Given the description of an element on the screen output the (x, y) to click on. 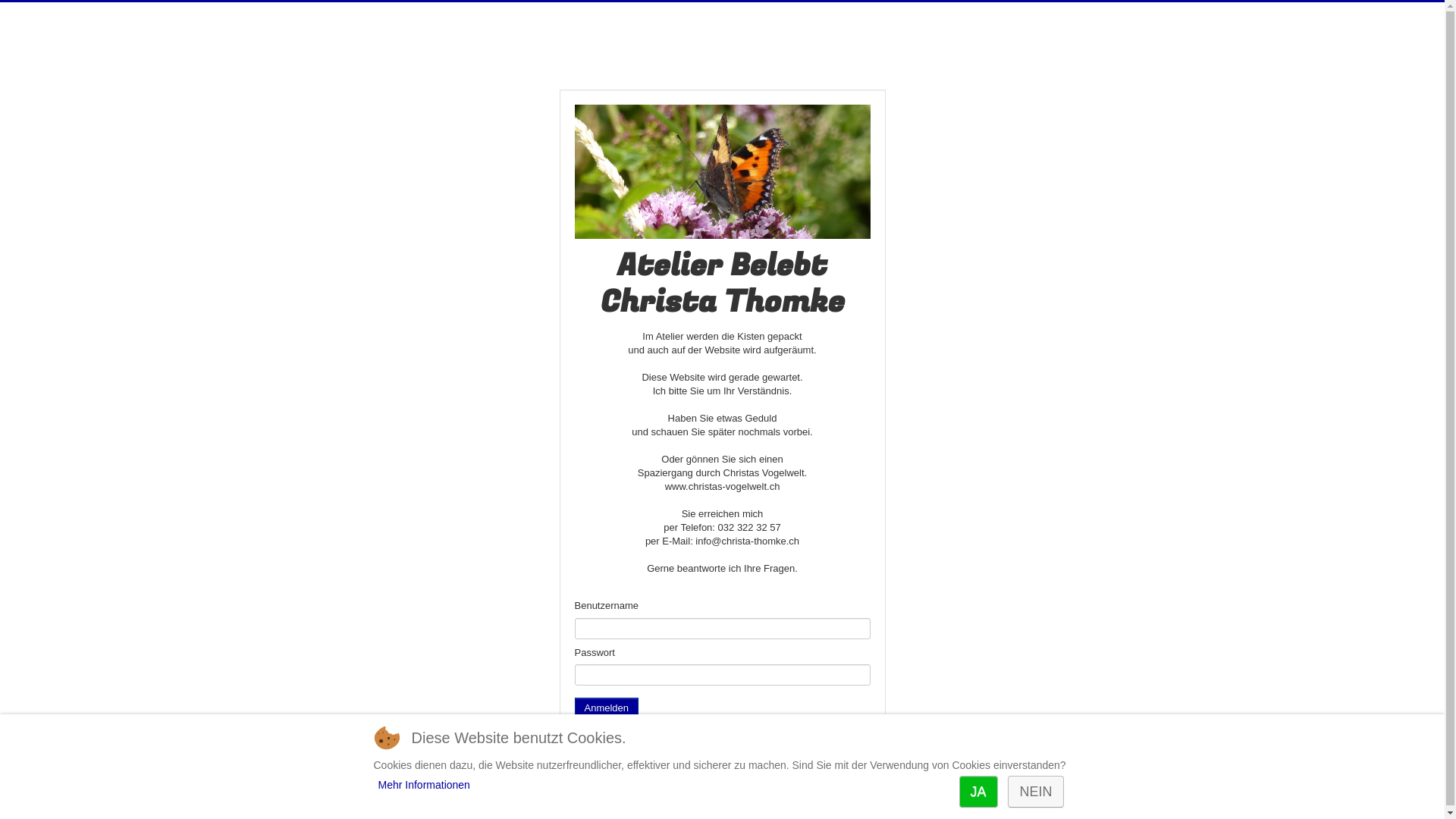
Passwort Element type: hover (722, 674)
NEIN Element type: text (1035, 791)
JA Element type: text (978, 791)
Mehr Informationen Element type: text (423, 784)
Anmelden Element type: text (606, 707)
Benutzername Element type: hover (722, 628)
